Given the description of an element on the screen output the (x, y) to click on. 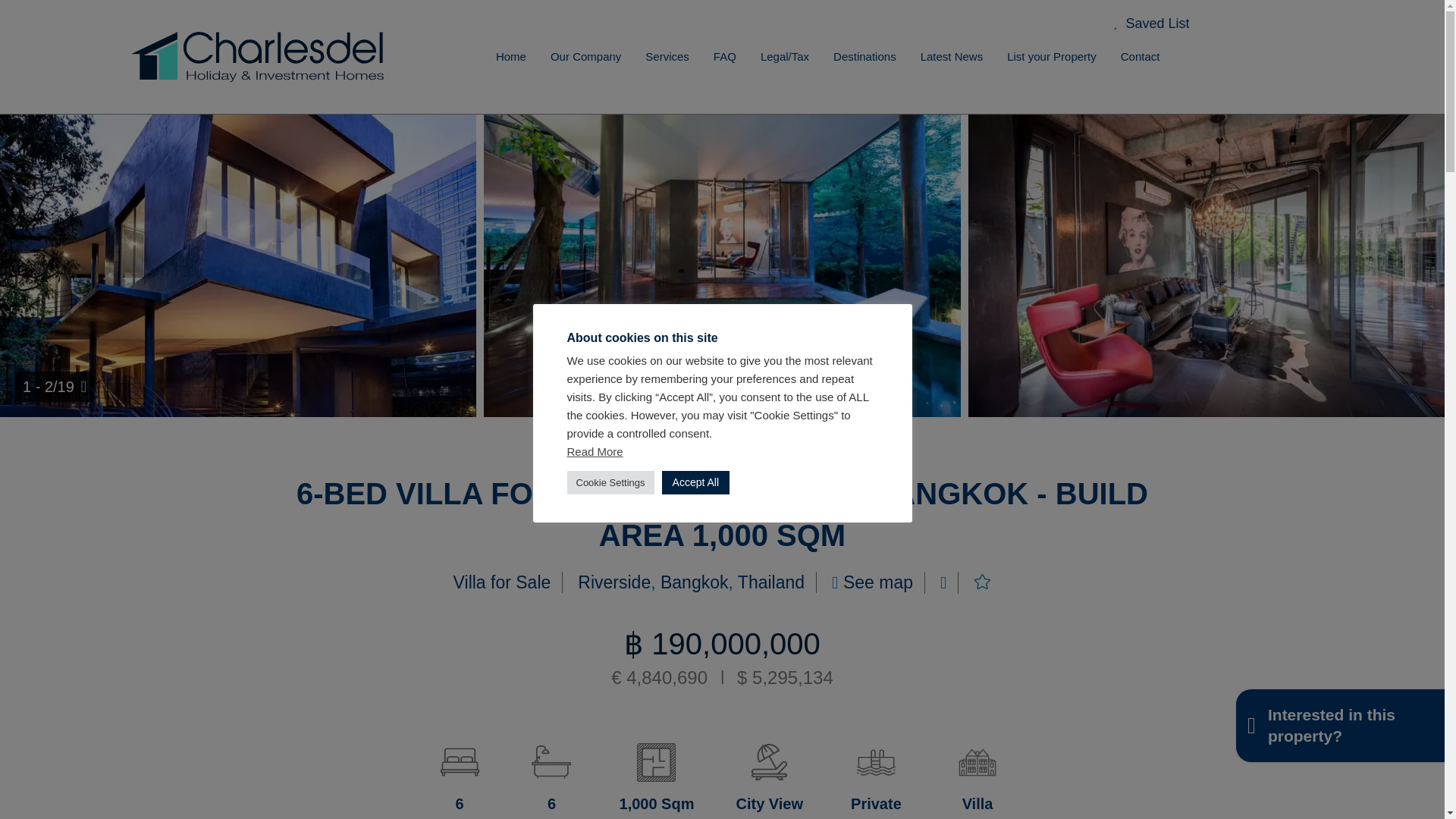
View all property in Thailand (771, 582)
View all property in Riverside (614, 582)
View all property in Bangkok (695, 582)
